Given the description of an element on the screen output the (x, y) to click on. 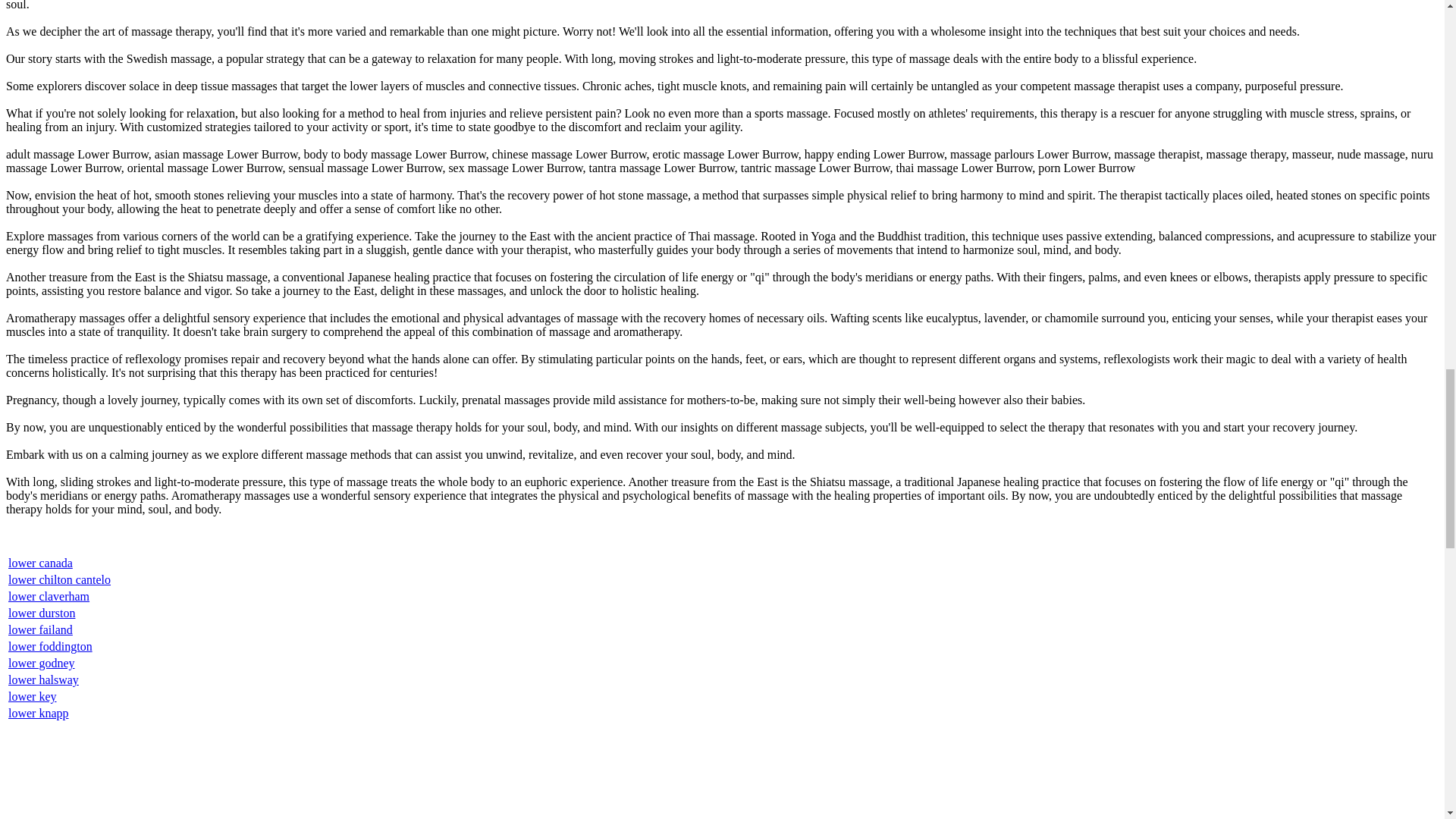
lower canada (40, 562)
lower foddington (50, 645)
lower durston (41, 612)
lower godney (41, 662)
lower failand (40, 629)
lower key (32, 696)
lower chilton cantelo (59, 579)
lower halsway (43, 679)
lower claverham (48, 595)
lower knapp (38, 712)
